Given the description of an element on the screen output the (x, y) to click on. 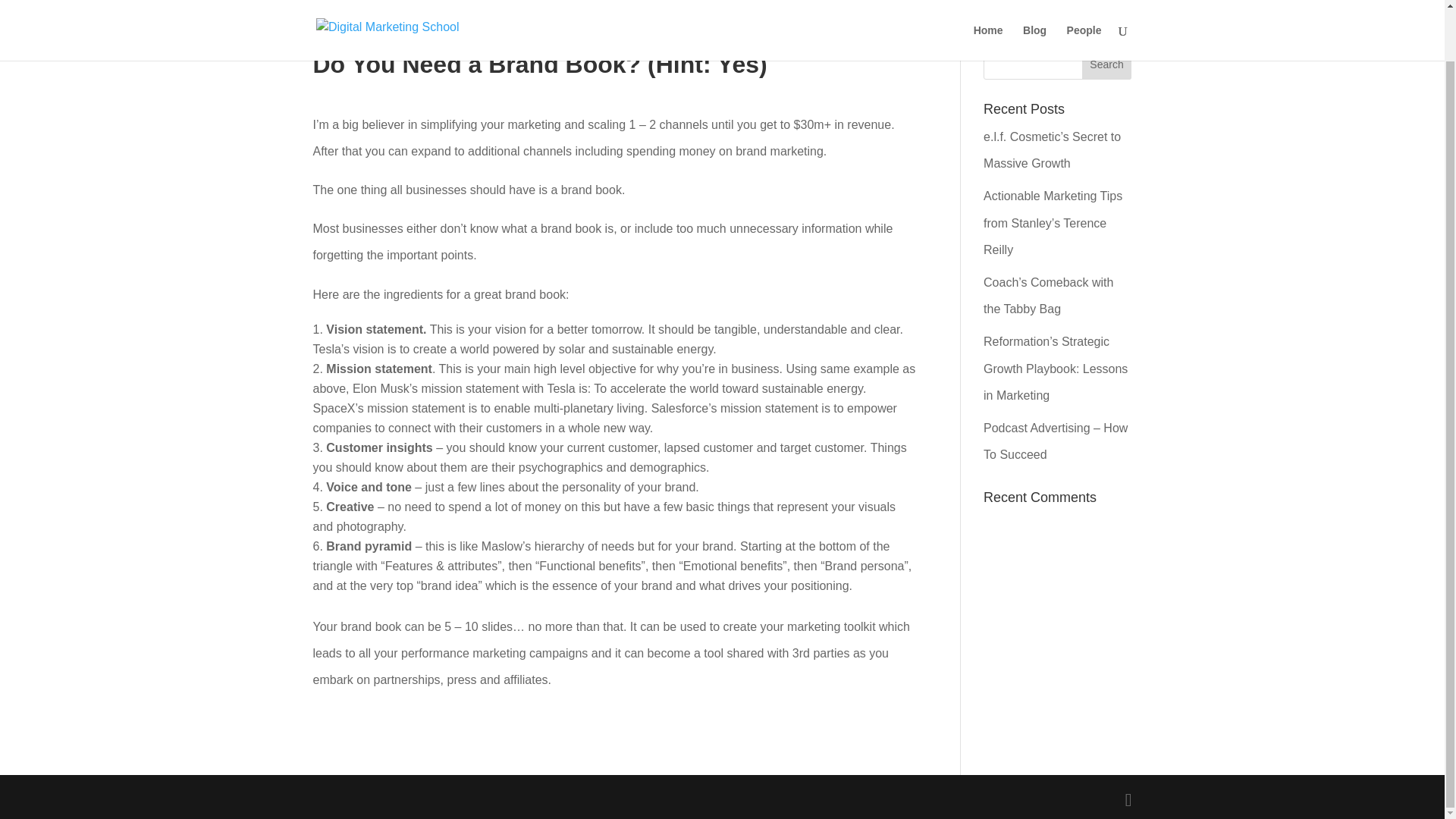
Search (1106, 64)
People (1084, 2)
Home (988, 2)
Search (1106, 64)
Blog (1034, 2)
